Given the description of an element on the screen output the (x, y) to click on. 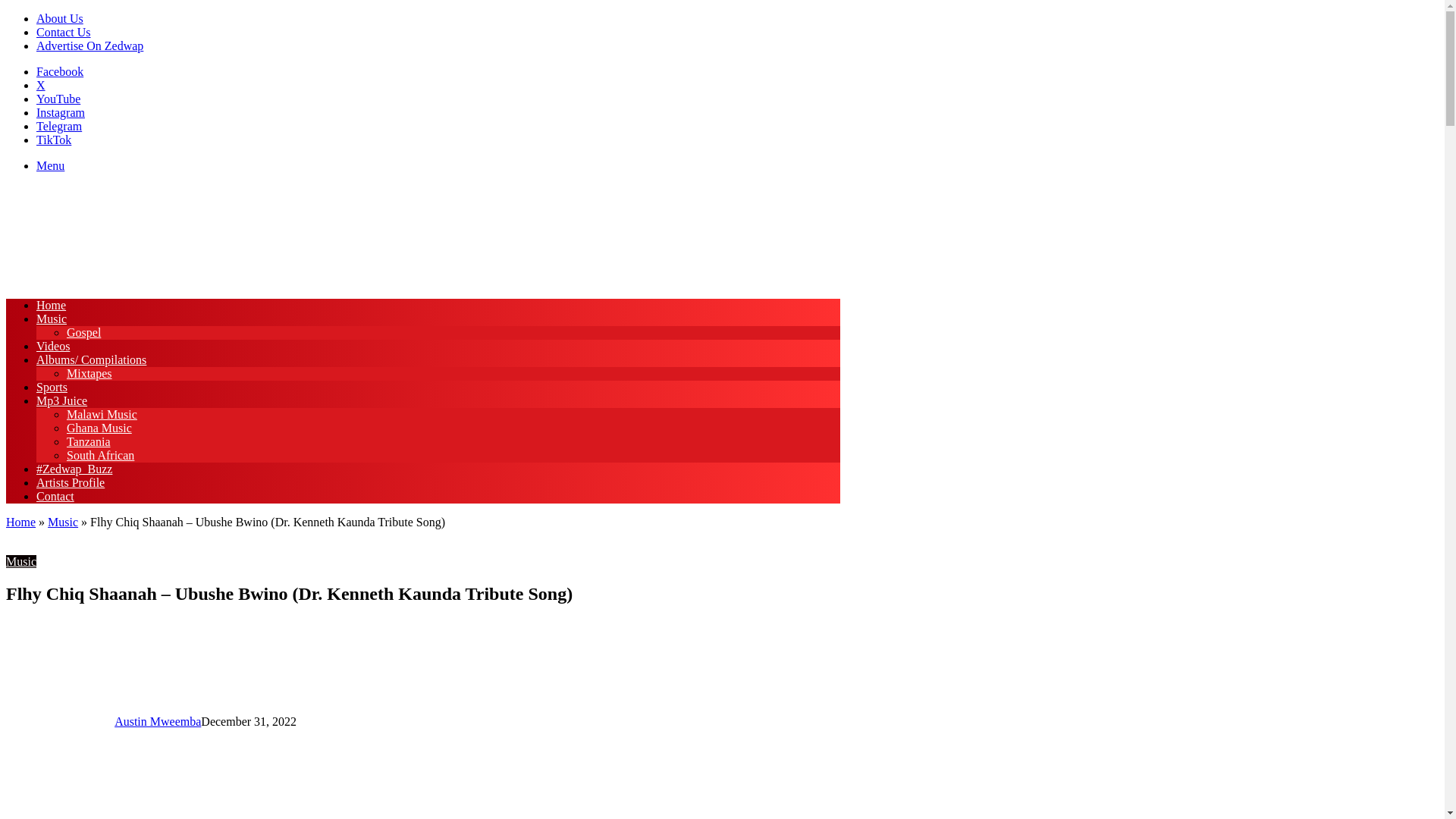
Music (51, 318)
YouTube (58, 98)
Telegram (58, 125)
Ghana Music (99, 427)
Advertise On Zedwap (89, 45)
Zedwap.com (62, 278)
South African (99, 454)
About Us (59, 18)
Home (19, 521)
Artists Profile (70, 481)
Facebook (59, 71)
Sports (51, 386)
Instagram (60, 112)
Malawi Music (101, 413)
Austin Mweemba (157, 721)
